Given the description of an element on the screen output the (x, y) to click on. 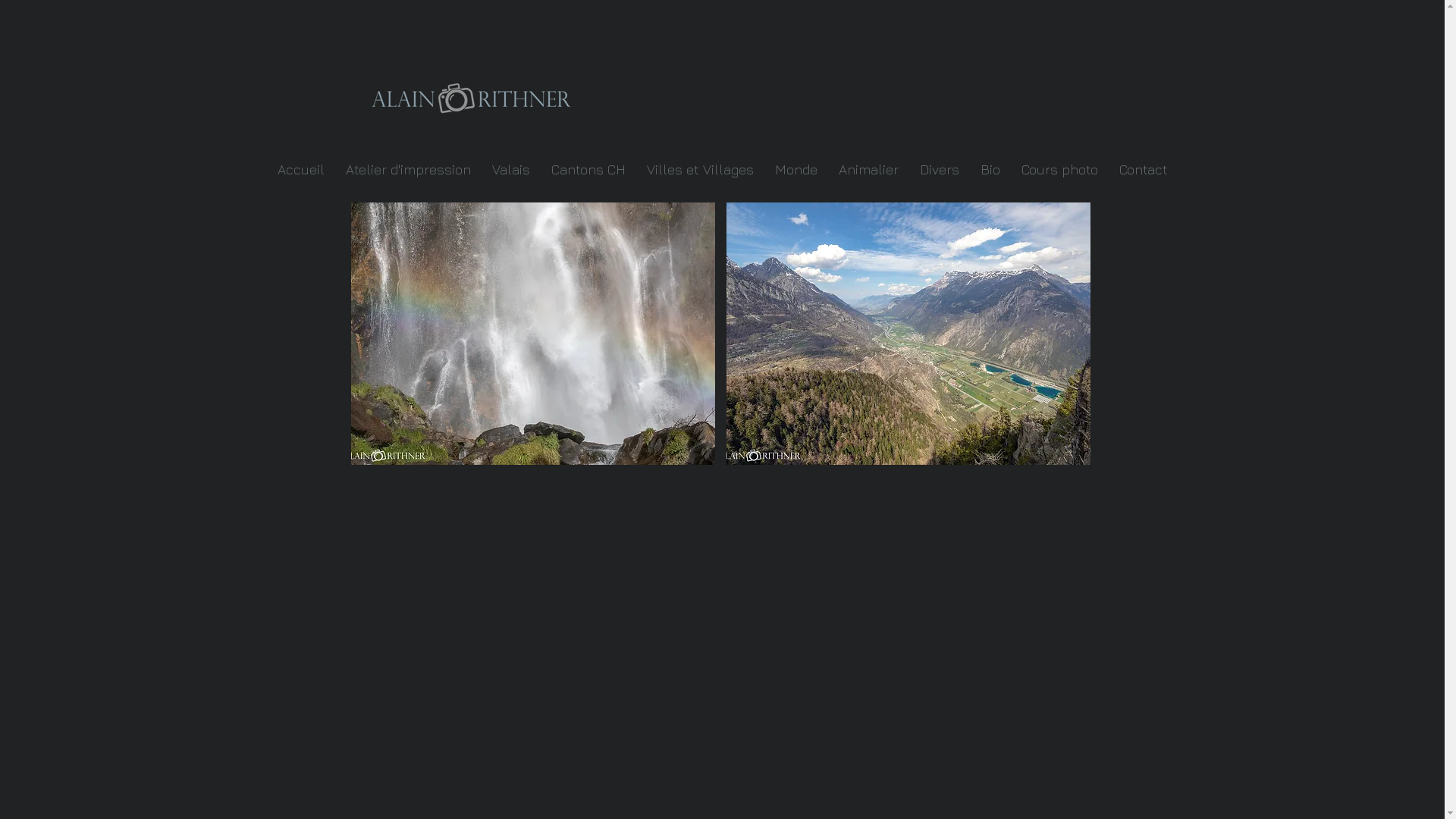
Villes et Villages Element type: text (699, 169)
Bio Element type: text (989, 169)
Atelier d'impression Element type: text (408, 169)
Contact Element type: text (1143, 169)
Accueil Element type: text (300, 169)
Cours photo Element type: text (1058, 169)
